Given the description of an element on the screen output the (x, y) to click on. 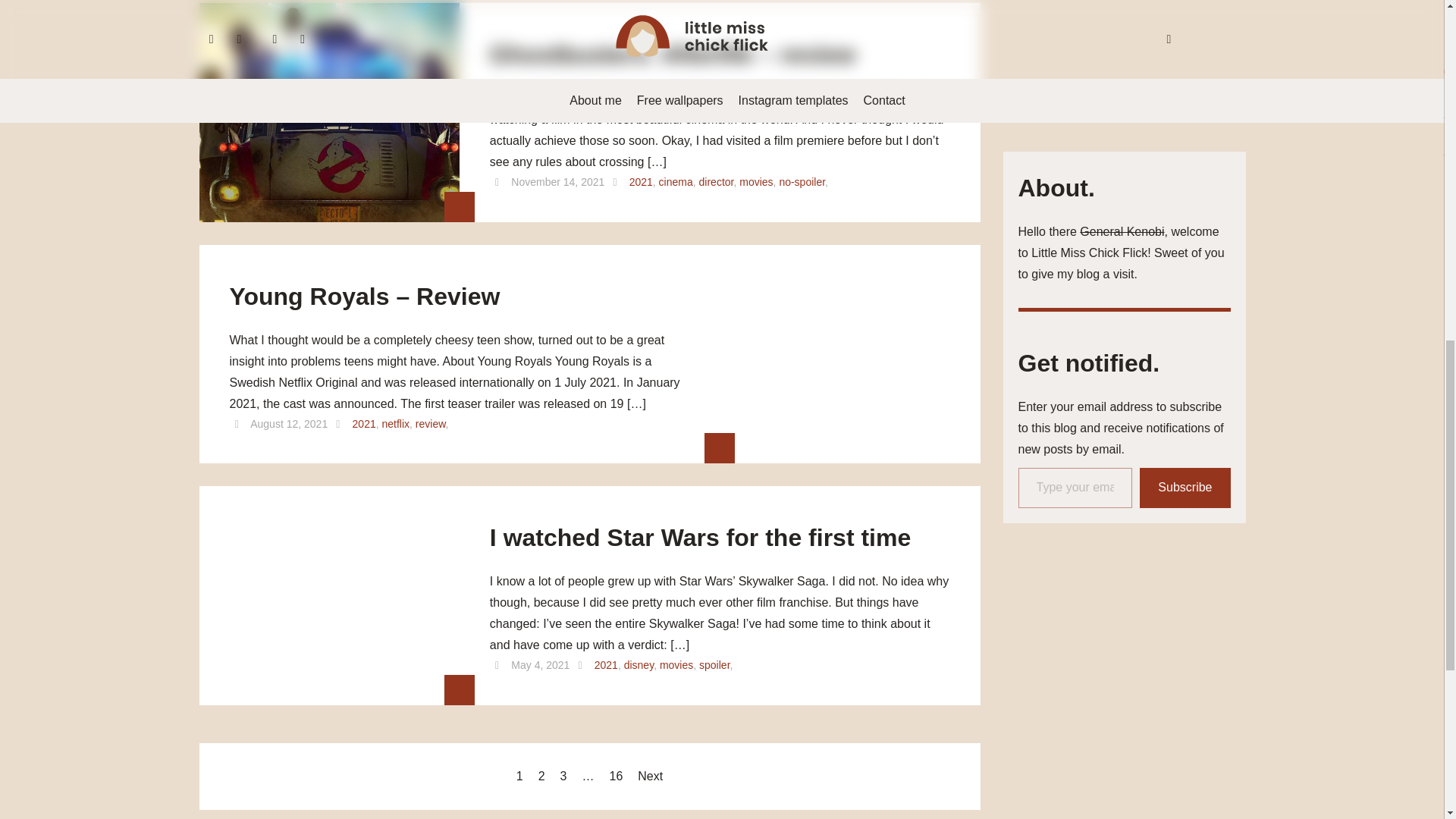
2021 (605, 664)
2021 (363, 422)
disney (638, 664)
I watched Star Wars for the first time (700, 543)
movies (756, 182)
cinema (676, 182)
no-spoiler (801, 182)
2021 (640, 182)
review (429, 422)
director (715, 182)
netflix (395, 422)
